Given the description of an element on the screen output the (x, y) to click on. 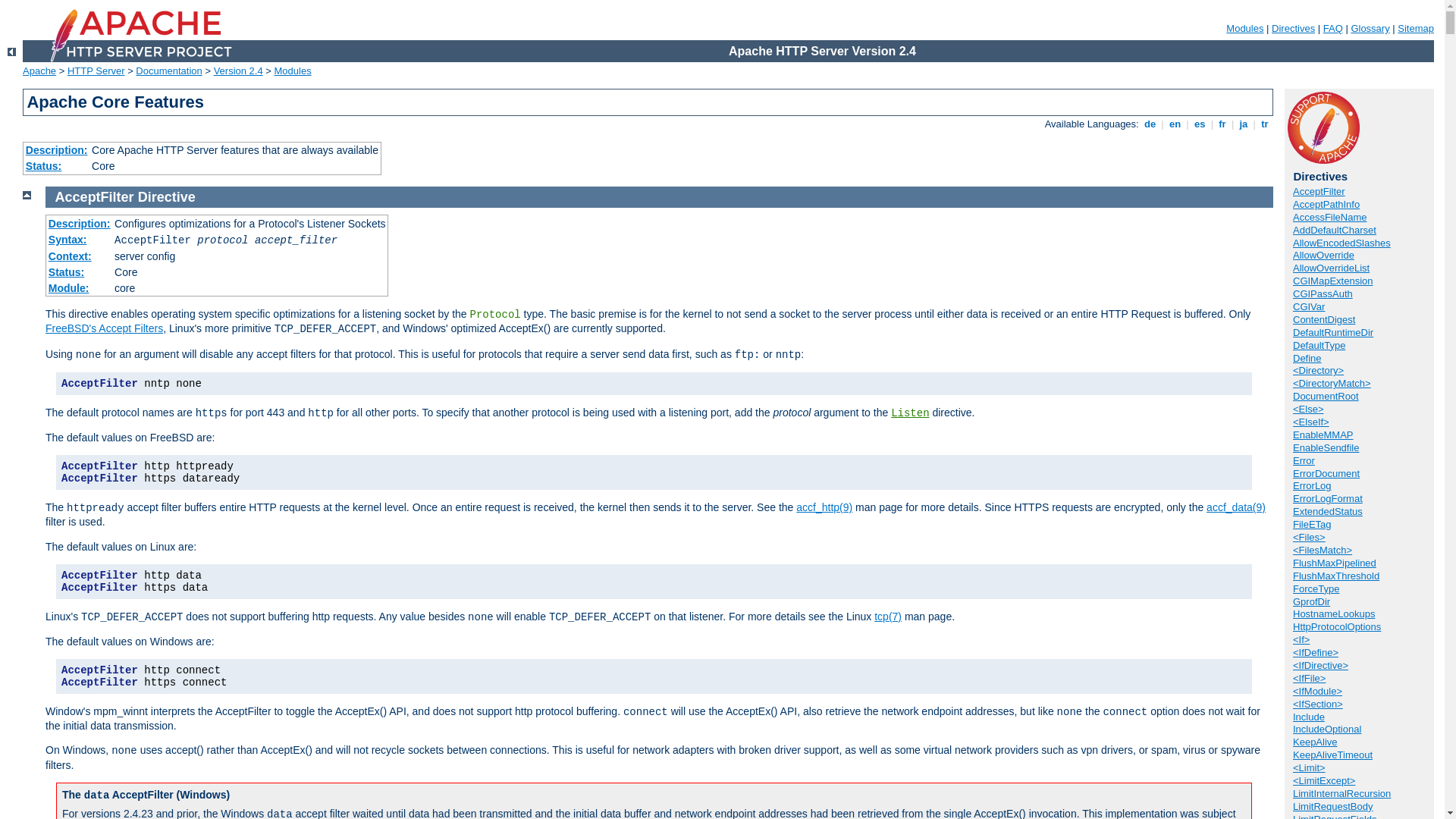
Version 2.4 Element type: text (238, 70)
FileETag Element type: text (1311, 524)
DefaultType Element type: text (1318, 345)
accf_http(9) Element type: text (824, 507)
 fr  Element type: text (1222, 123)
Sitemap Element type: text (1415, 28)
<Else> Element type: text (1307, 408)
FreeBSD's Accept Filters Element type: text (104, 328)
 es  Element type: text (1199, 123)
KeepAlive Element type: text (1314, 741)
IncludeOptional Element type: text (1326, 728)
<IfSection> Element type: text (1317, 703)
 ja  Element type: text (1243, 123)
<DirectoryMatch> Element type: text (1331, 383)
accf_data(9) Element type: text (1235, 507)
AllowOverride Element type: text (1323, 254)
Syntax: Element type: text (67, 239)
tcp(7) Element type: text (887, 616)
<Limit> Element type: text (1308, 767)
Modules Element type: text (1244, 28)
<ElseIf> Element type: text (1310, 421)
CGIVar Element type: text (1308, 306)
Apache Element type: text (39, 70)
AllowEncodedSlashes Element type: text (1341, 242)
Modules Element type: text (292, 70)
Glossary Element type: text (1369, 28)
AddDefaultCharset Element type: text (1334, 229)
ExtendedStatus Element type: text (1327, 511)
FAQ Element type: text (1333, 28)
LimitRequestBody Element type: text (1332, 806)
AllowOverrideList Element type: text (1330, 267)
 de  Element type: text (1149, 123)
 en  Element type: text (1174, 123)
Documentation Element type: text (168, 70)
DefaultRuntimeDir Element type: text (1332, 332)
Description: Element type: text (56, 150)
<Directory> Element type: text (1317, 370)
<IfDefine> Element type: text (1315, 652)
ErrorLogFormat Element type: text (1327, 498)
Description: Element type: text (79, 223)
FlushMaxPipelined Element type: text (1334, 562)
<If> Element type: text (1300, 639)
HTTP Server Element type: text (96, 70)
Define Element type: text (1306, 358)
ErrorDocument Element type: text (1325, 473)
KeepAliveTimeout Element type: text (1332, 754)
<IfModule> Element type: text (1317, 690)
EnableMMAP Element type: text (1322, 434)
<FilesMatch> Element type: text (1322, 549)
FlushMaxThreshold Element type: text (1335, 575)
Include Element type: text (1308, 716)
HttpProtocolOptions Element type: text (1336, 626)
AccessFileName Element type: text (1329, 216)
ContentDigest Element type: text (1323, 319)
AcceptFilter Element type: text (94, 196)
<Files> Element type: text (1308, 536)
Directives Element type: text (1292, 28)
HostnameLookups Element type: text (1333, 613)
ForceType Element type: text (1315, 588)
ErrorLog Element type: text (1311, 485)
Listen Element type: text (909, 413)
CGIMapExtension Element type: text (1332, 280)
 tr  Element type: text (1264, 123)
AcceptPathInfo Element type: text (1325, 204)
<IfDirective> Element type: text (1320, 665)
Status: Element type: text (43, 166)
LimitInternalRecursion Element type: text (1341, 793)
Context: Element type: text (69, 256)
EnableSendfile Element type: text (1325, 447)
Directive Element type: text (166, 196)
GprofDir Element type: text (1311, 601)
<- Element type: hover (11, 51)
DocumentRoot Element type: text (1325, 395)
<IfFile> Element type: text (1308, 678)
<LimitExcept> Element type: text (1323, 780)
Status: Element type: text (66, 272)
Error Element type: text (1303, 460)
AcceptFilter Element type: text (1318, 191)
Module: Element type: text (68, 288)
CGIPassAuth Element type: text (1322, 293)
